Given the description of an element on the screen output the (x, y) to click on. 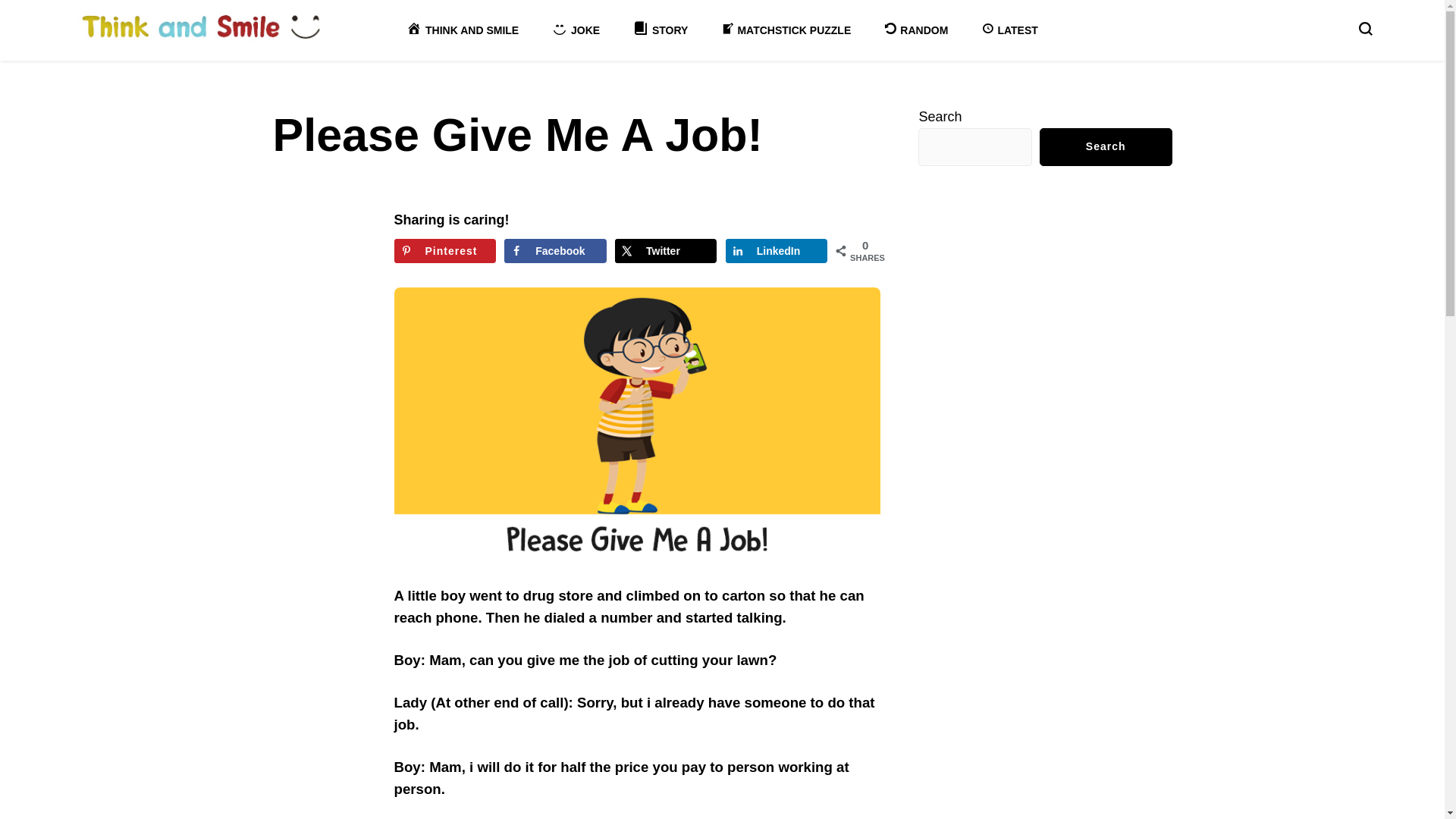
Twitter (665, 250)
Share on X (665, 250)
Think and Smile (168, 64)
RANDOM (915, 30)
THINK AND SMILE (462, 30)
Share on Facebook (554, 250)
Pinterest (445, 250)
STORY (660, 30)
LATEST (1009, 30)
Facebook (554, 250)
LinkedIn (776, 250)
Share on LinkedIn (776, 250)
Save to Pinterest (445, 250)
JOKE (575, 30)
MATCHSTICK PUZZLE (785, 30)
